Given the description of an element on the screen output the (x, y) to click on. 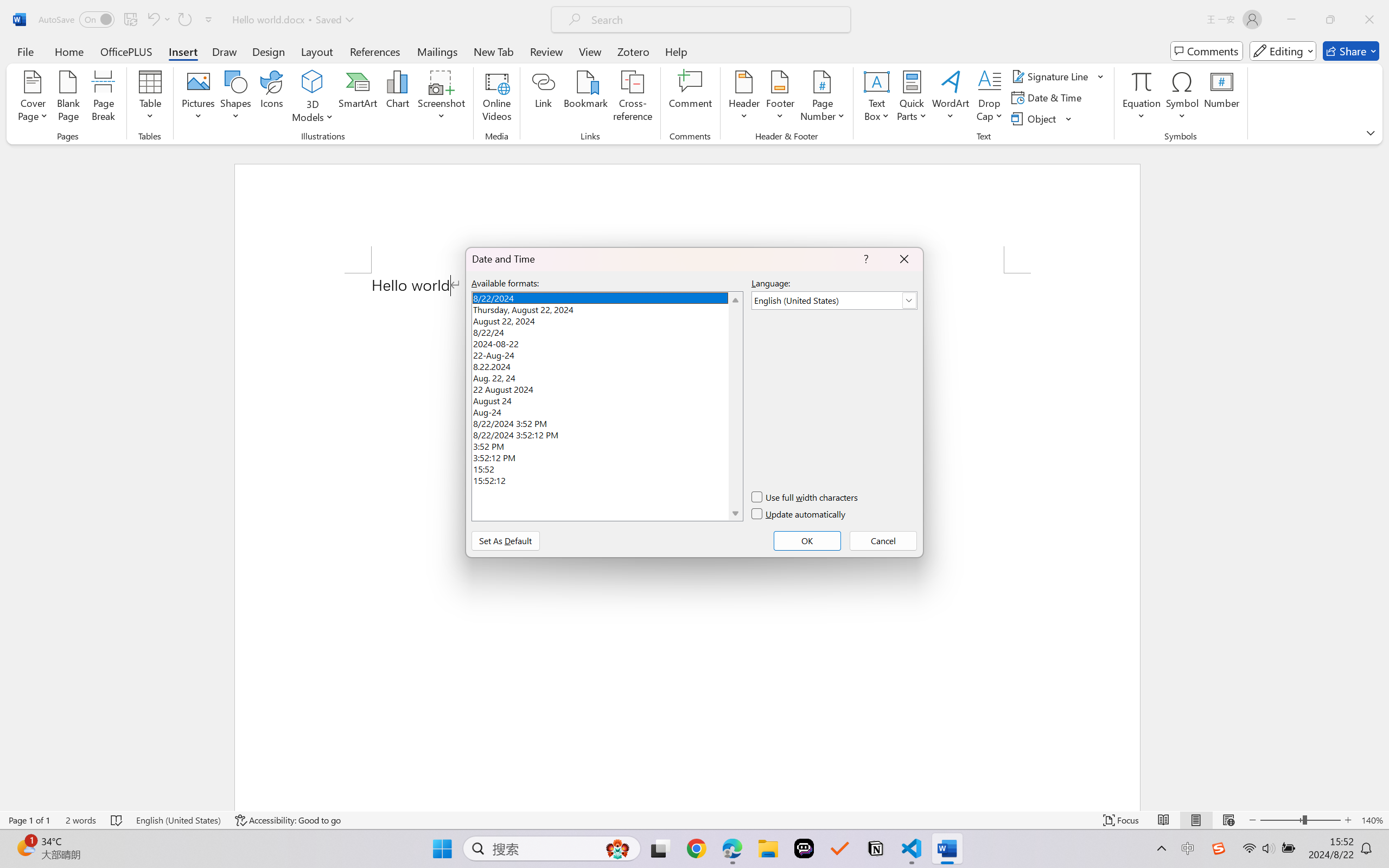
Language (196, 62)
Reviewing Pane (635, 77)
Czech (1253, 246)
Accept (570, 62)
Traditional (243, 60)
